Given the description of an element on the screen output the (x, y) to click on. 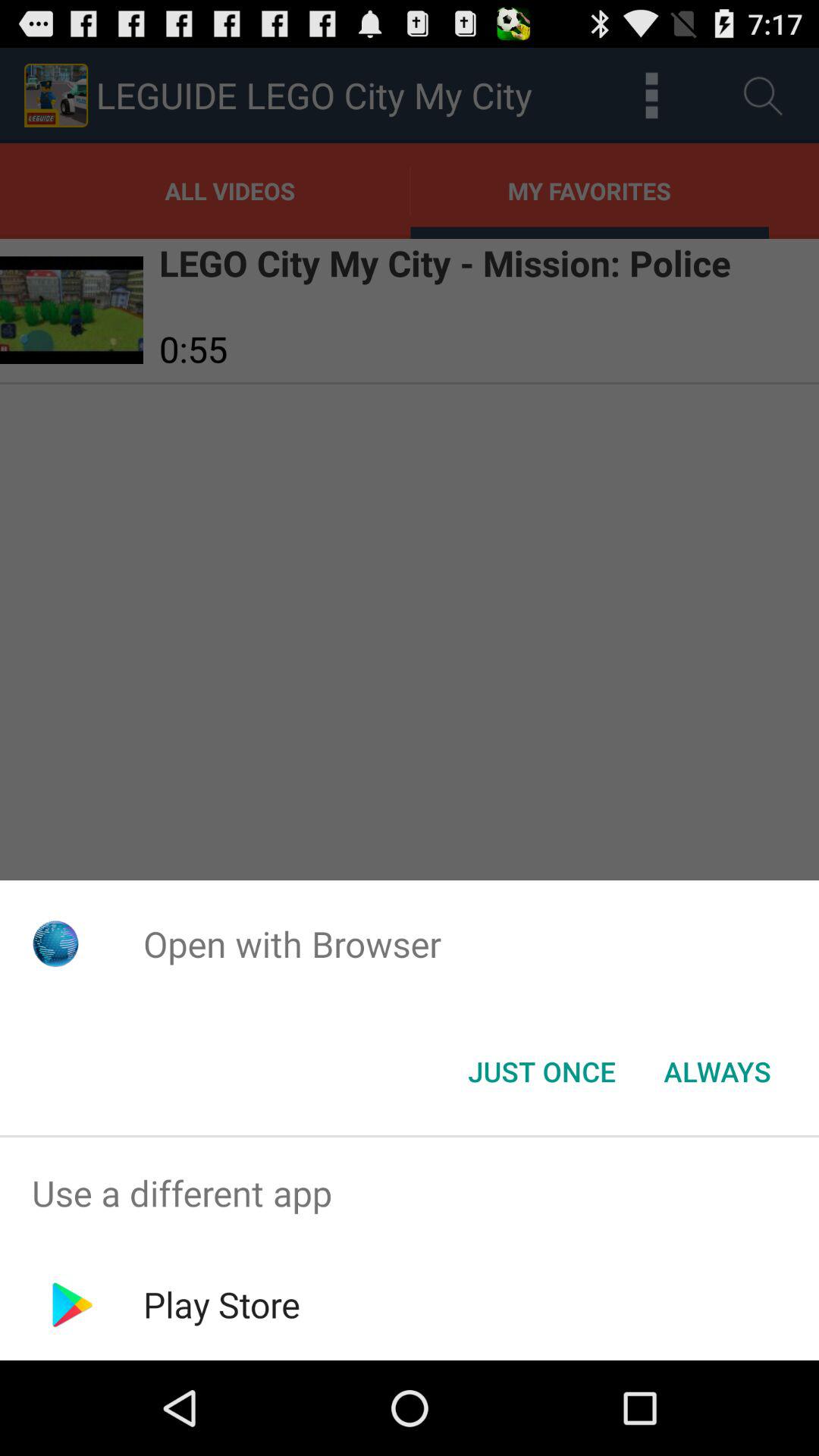
select the item to the right of the just once (717, 1071)
